Given the description of an element on the screen output the (x, y) to click on. 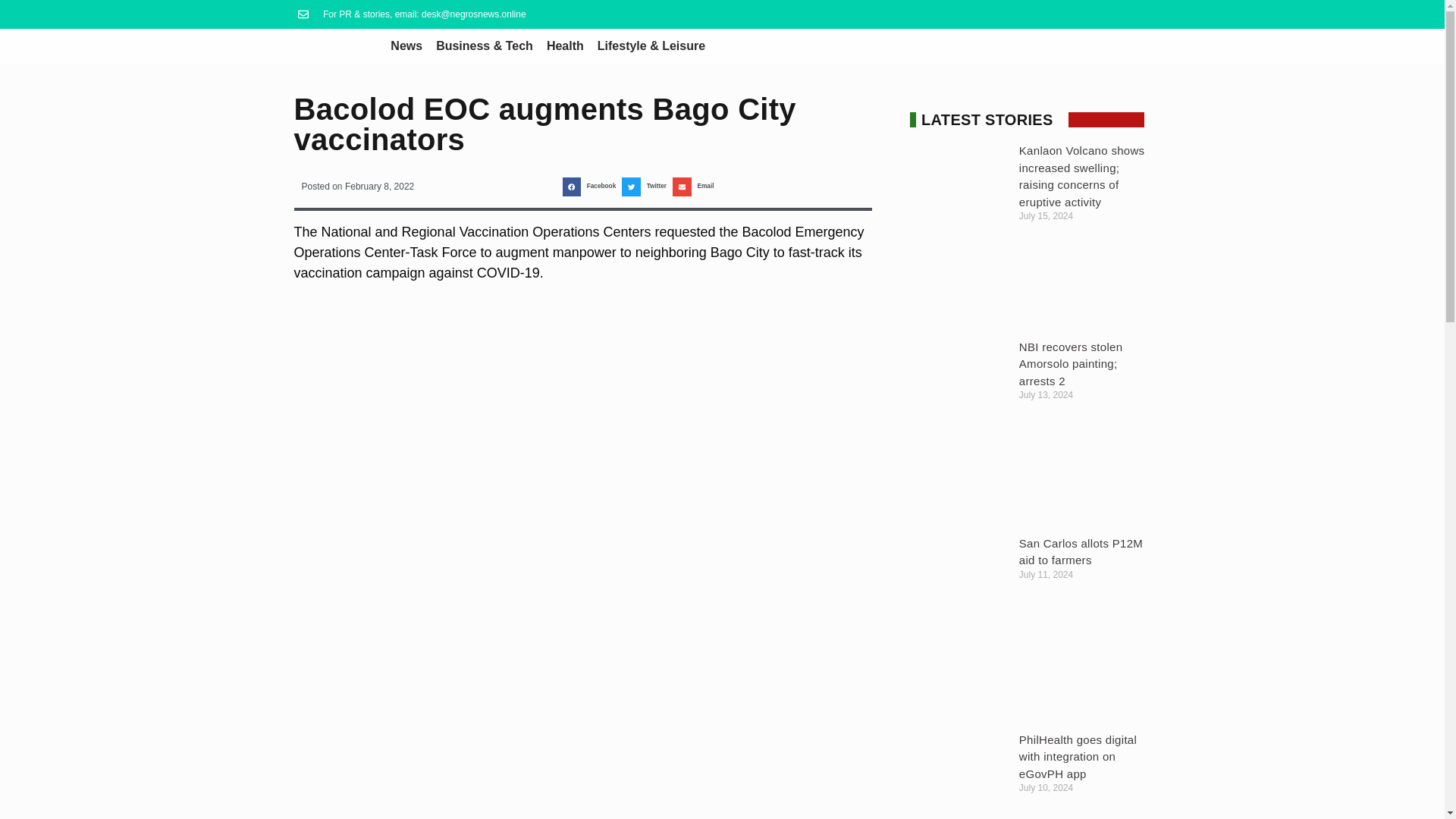
Health (565, 45)
NBI recovers stolen Amorsolo painting; arrests 2 (1070, 363)
San Carlos allots P12M aid to farmers (1080, 552)
PhilHealth goes digital with integration on eGovPH app (1078, 756)
News (406, 45)
